Given the description of an element on the screen output the (x, y) to click on. 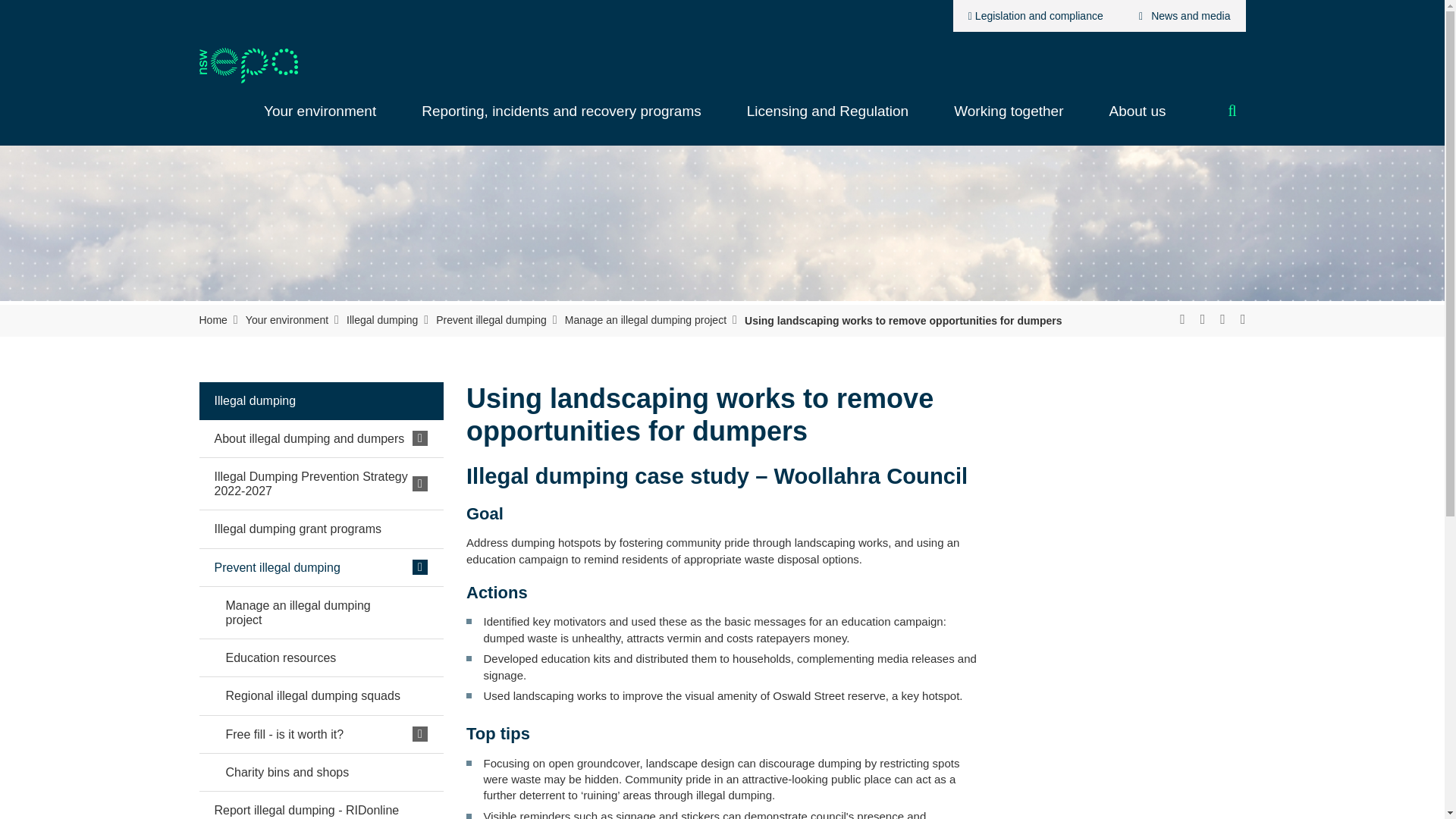
Legislation and compliance (1035, 15)
Your environment (319, 118)
Reporting, incidents and recovery programs (560, 118)
Licensing and Regulation (827, 118)
News and media (1182, 15)
